Given the description of an element on the screen output the (x, y) to click on. 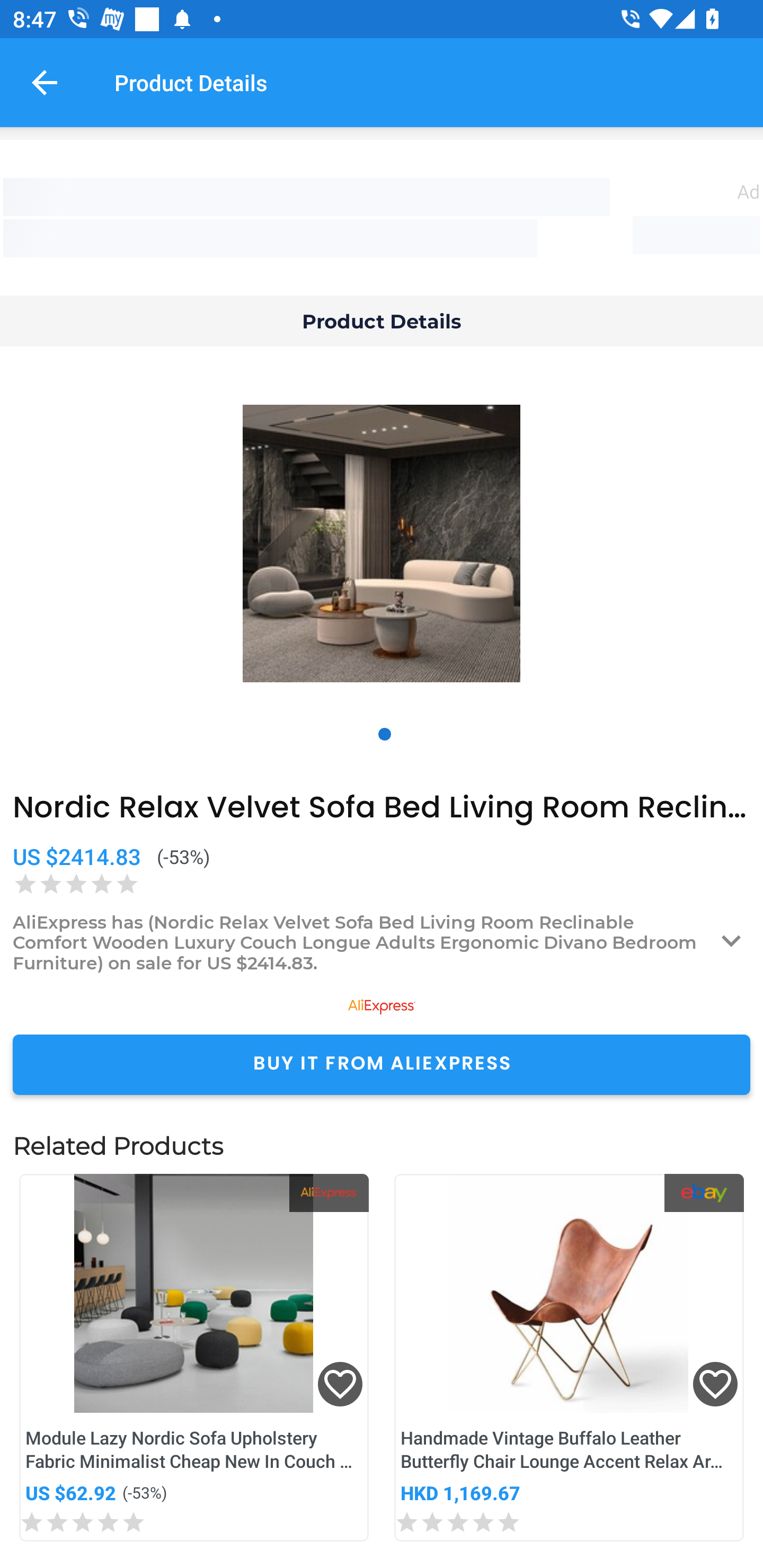
Navigate up (44, 82)
BUY IT FROM ALIEXPRESS (381, 1064)
